Given the description of an element on the screen output the (x, y) to click on. 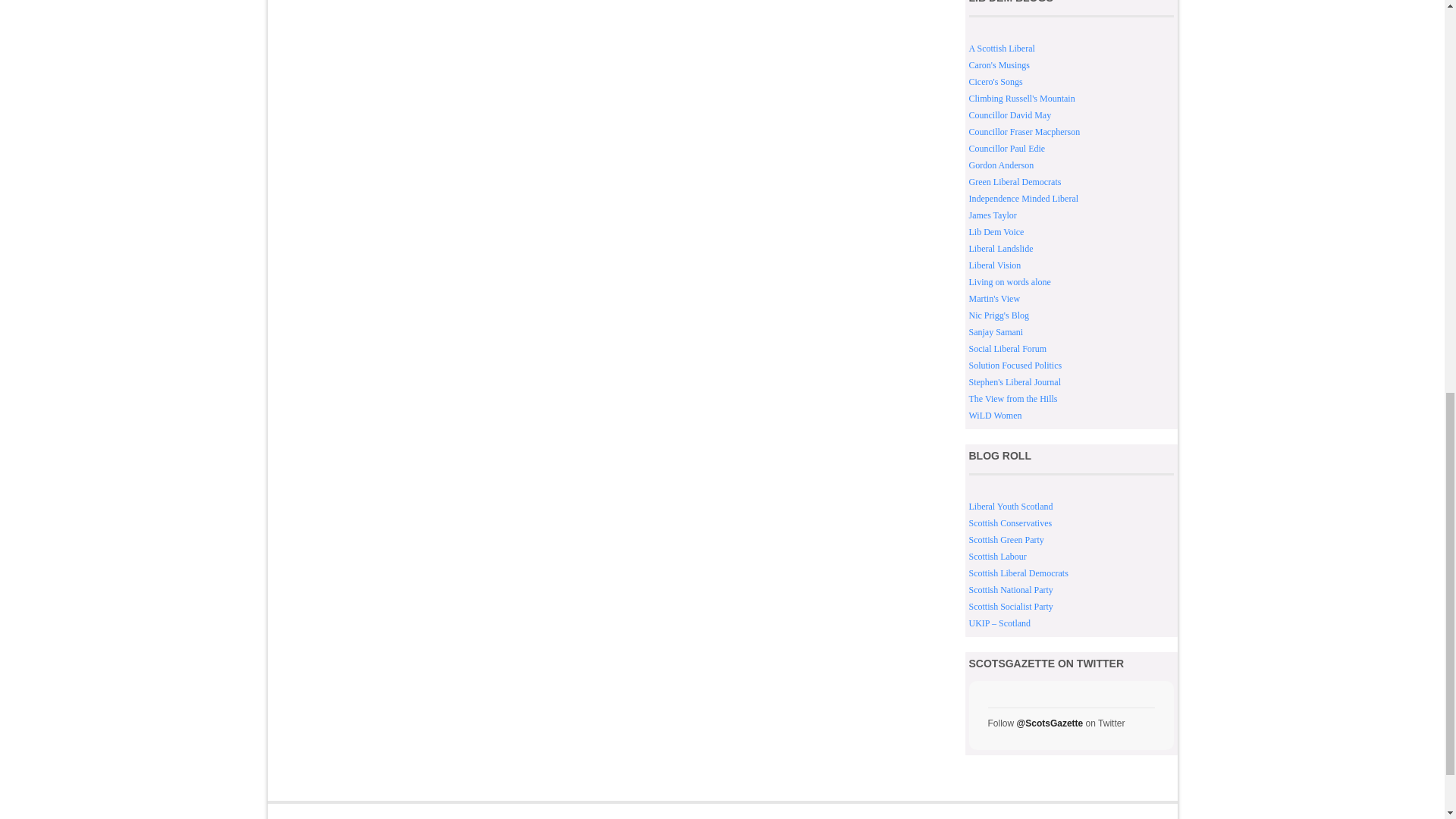
Councillor Paul Edie (1007, 148)
Councillor David May (1010, 114)
Caron's Musings (999, 64)
A Scottish Liberal (1002, 48)
Gordon Anderson (1001, 164)
Councillor Fraser Macpherson (1024, 131)
Climbing Russell's Mountain (1022, 98)
Cicero's Songs (996, 81)
